Given the description of an element on the screen output the (x, y) to click on. 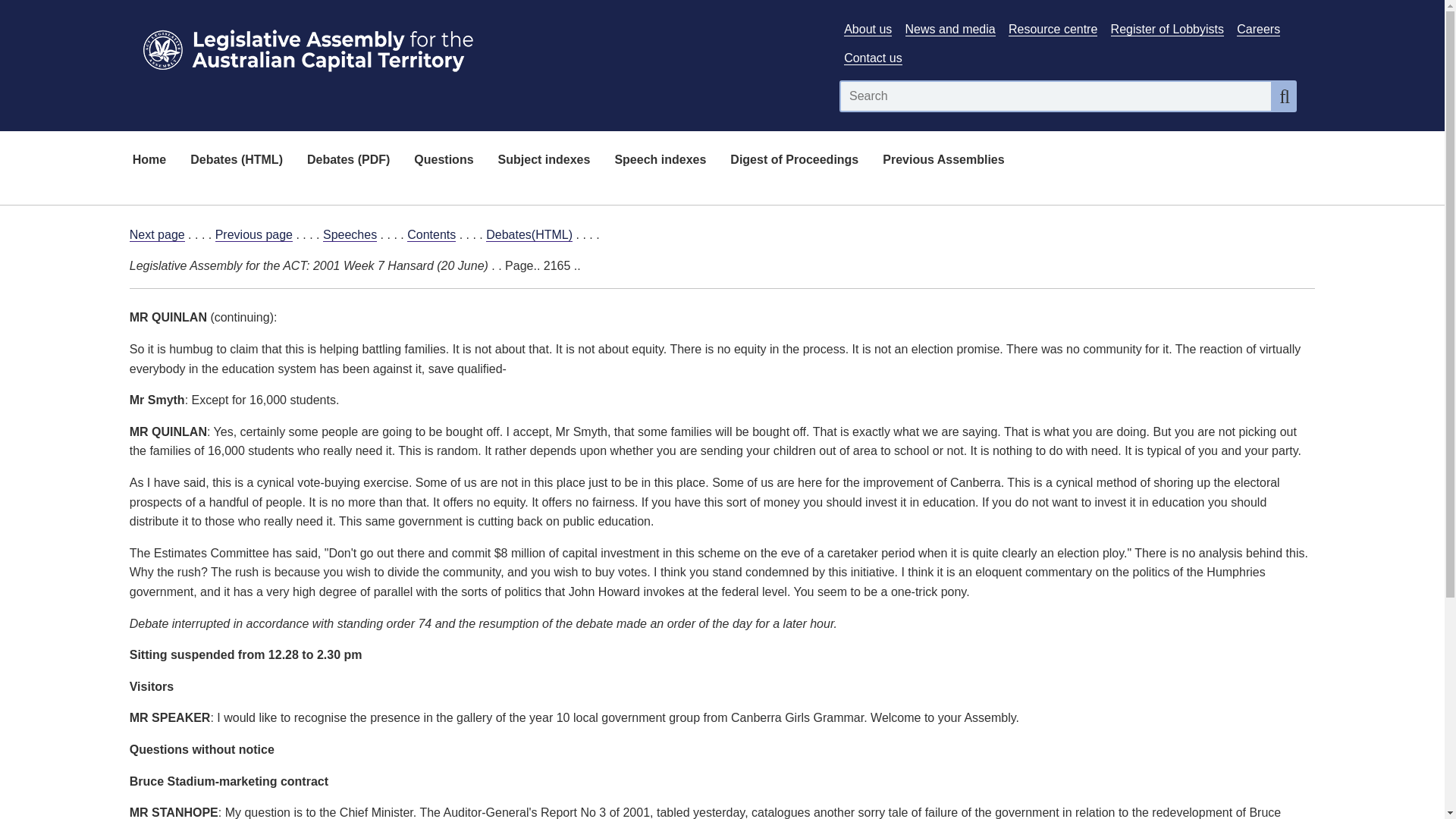
Link to About Us (867, 29)
Previous page (253, 234)
Resource centre (1053, 29)
Subject indexes (544, 160)
Link to News and media (950, 29)
Link to Register of Lobbyists (1167, 29)
Careers (1257, 29)
Contact us (872, 58)
Search input field (1056, 96)
Link to Contact Us (872, 58)
